Given the description of an element on the screen output the (x, y) to click on. 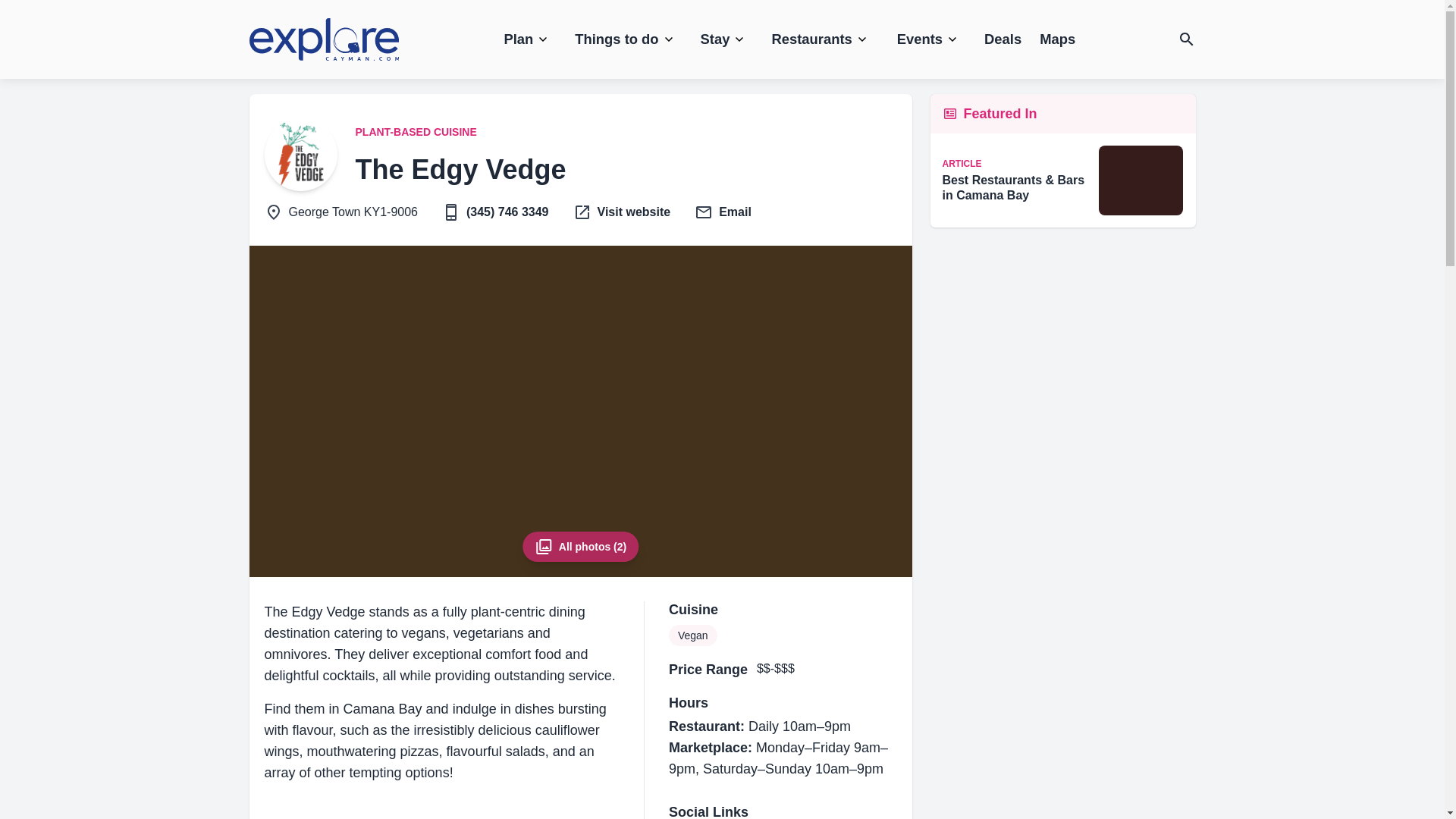
Stay (724, 38)
Things to do (624, 38)
Plan (527, 38)
